Given the description of an element on the screen output the (x, y) to click on. 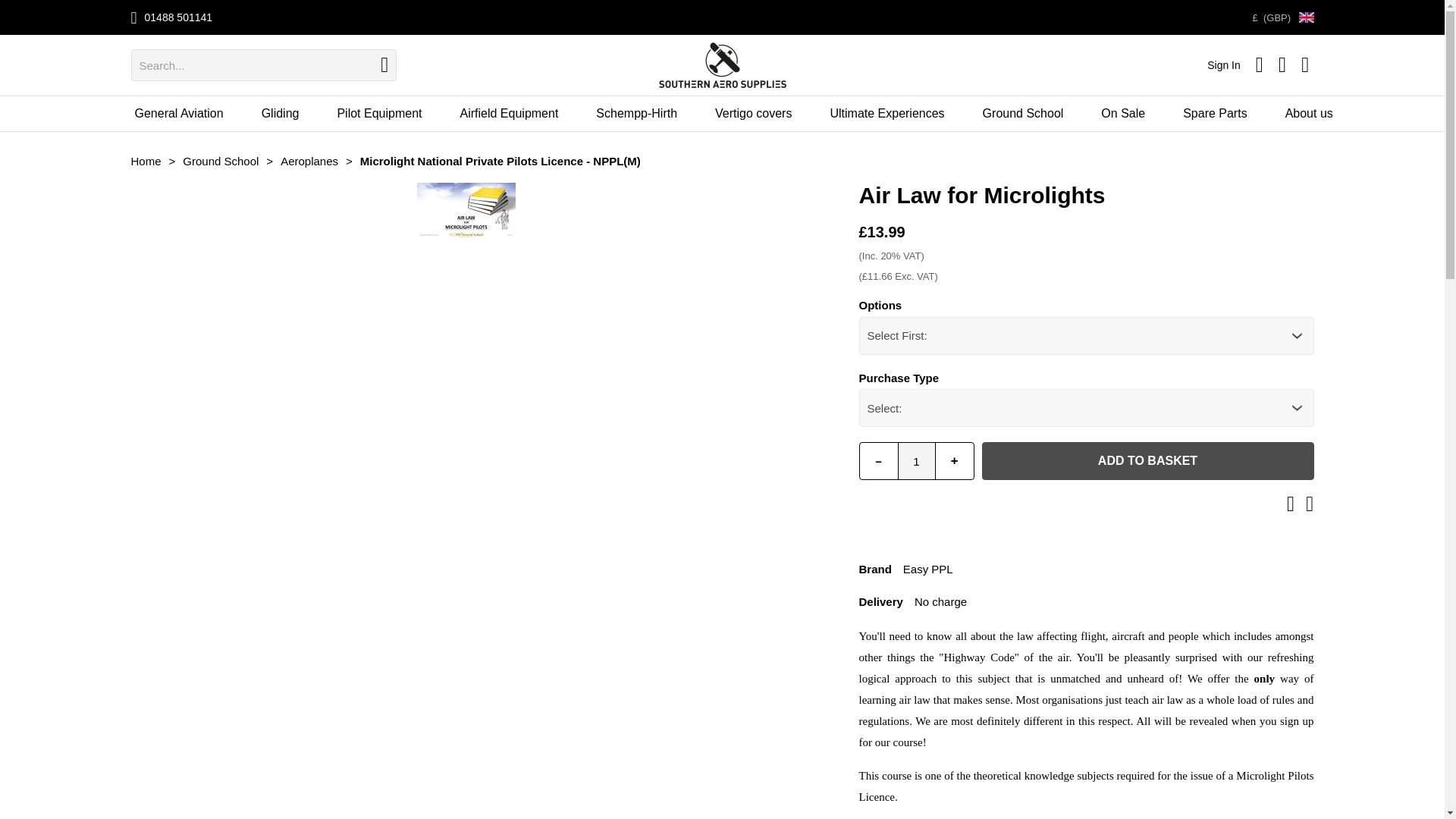
PayPal Message 1 (1086, 537)
Go (384, 65)
Tell a Friend (1309, 504)
Gliding (280, 113)
1 (917, 461)
General Aviation (178, 113)
Add to Wish List (1290, 504)
Sign In (1223, 64)
01488 501141 (178, 17)
